Given the description of an element on the screen output the (x, y) to click on. 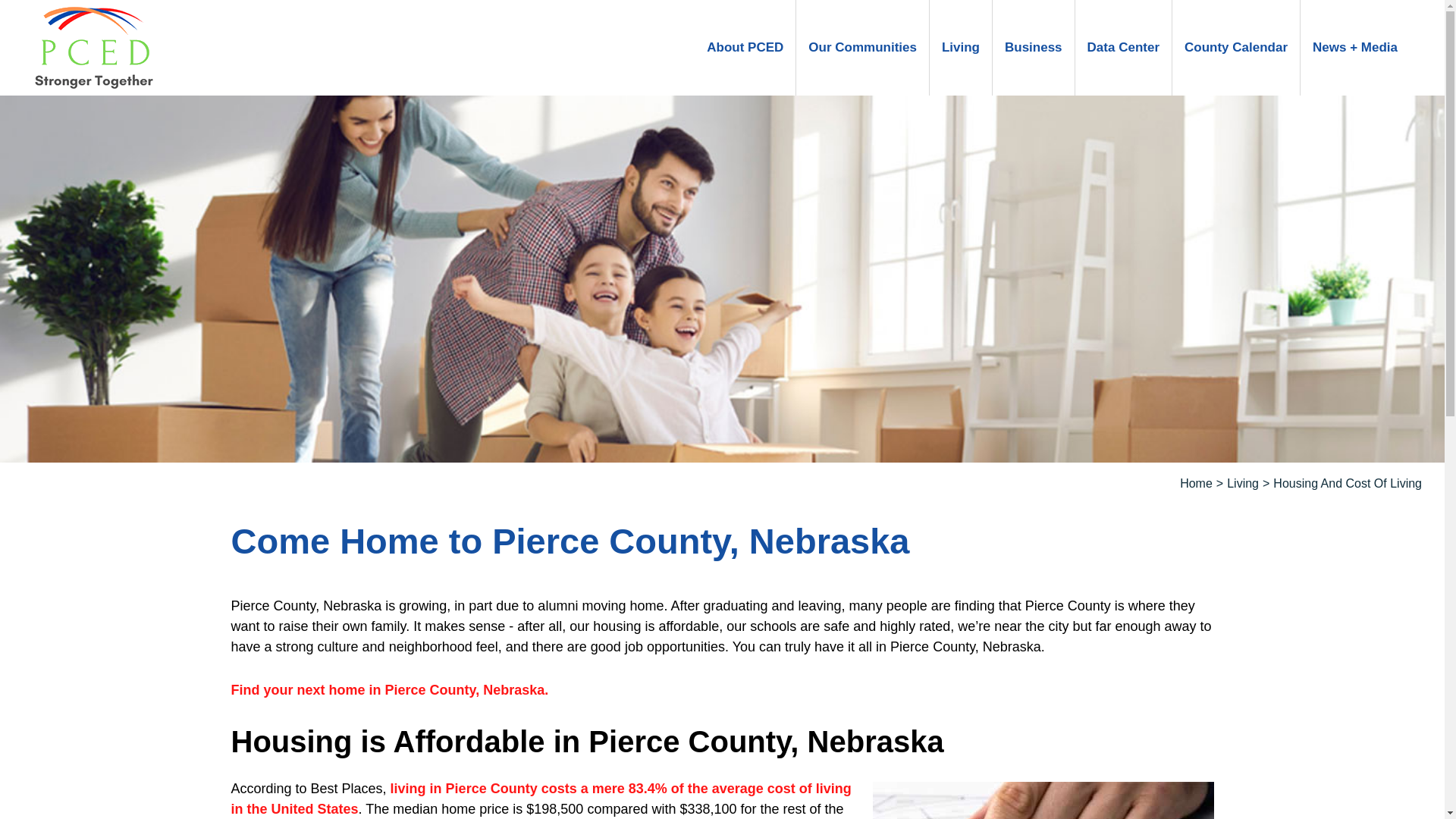
County Calendar (1236, 47)
About PCED (744, 47)
Our Communities (862, 47)
Data Center (1123, 47)
